Given the description of an element on the screen output the (x, y) to click on. 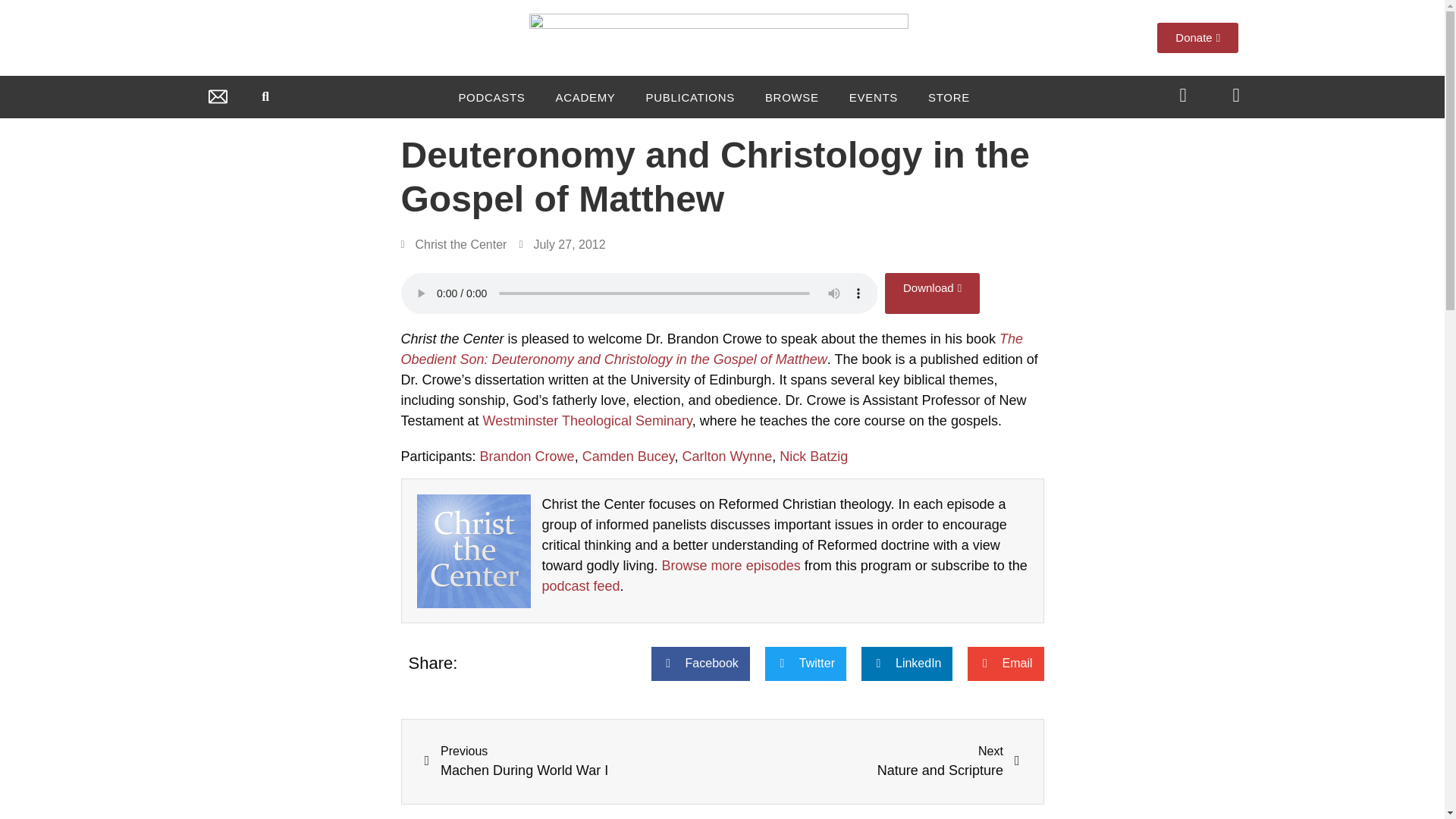
PUBLICATIONS (689, 97)
Reformed Academy (585, 97)
PODCASTS (490, 97)
ACADEMY (585, 97)
Donate (1198, 37)
